Given the description of an element on the screen output the (x, y) to click on. 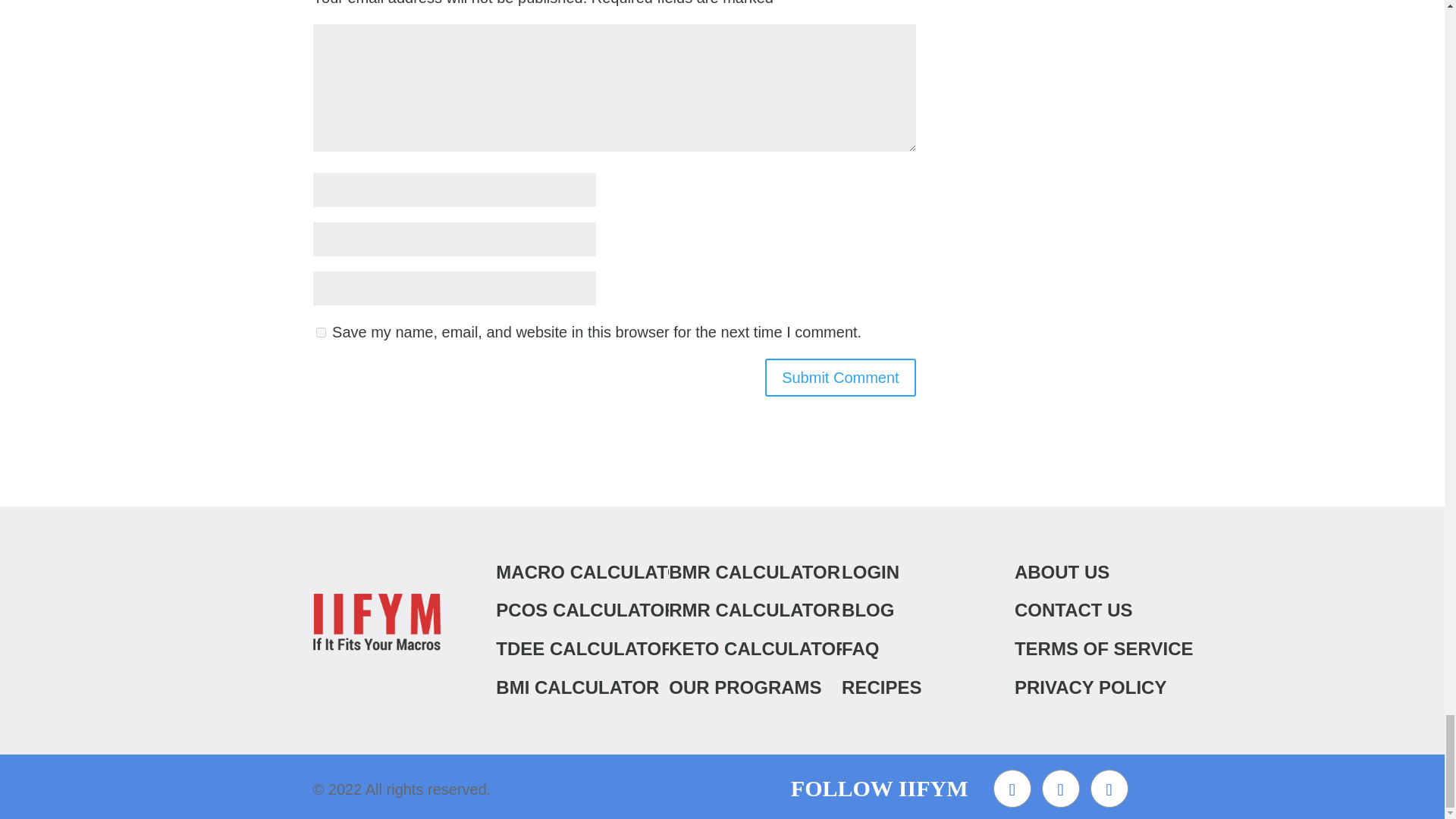
Submit Comment (840, 377)
yes (319, 332)
Submit Comment (840, 377)
